Given the description of an element on the screen output the (x, y) to click on. 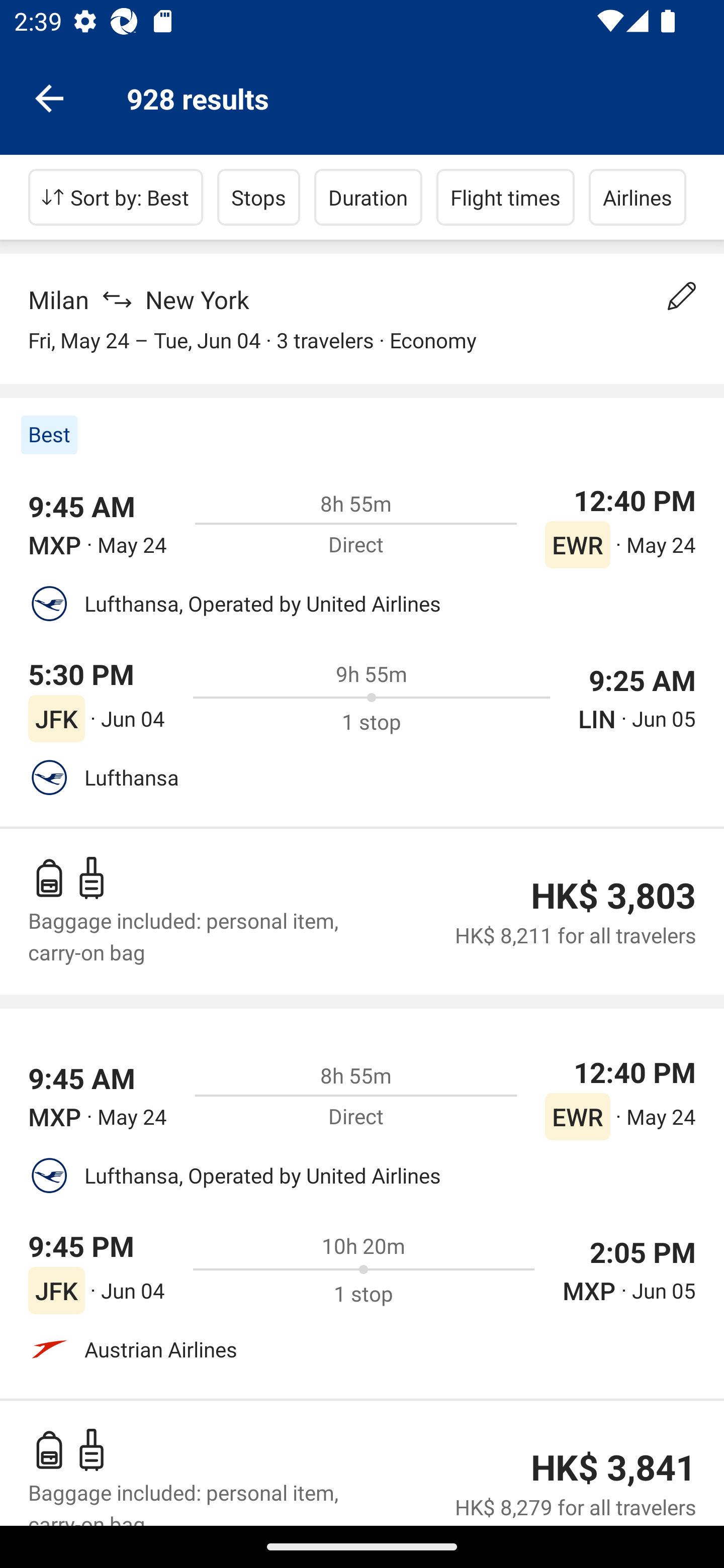
Navigate up (49, 97)
Sort by: Best (115, 197)
Stops (258, 197)
Duration (368, 197)
Flight times (505, 197)
Airlines (637, 197)
Change your search details (681, 296)
HK$ 3,803 (612, 895)
HK$ 3,841 (612, 1468)
